Given the description of an element on the screen output the (x, y) to click on. 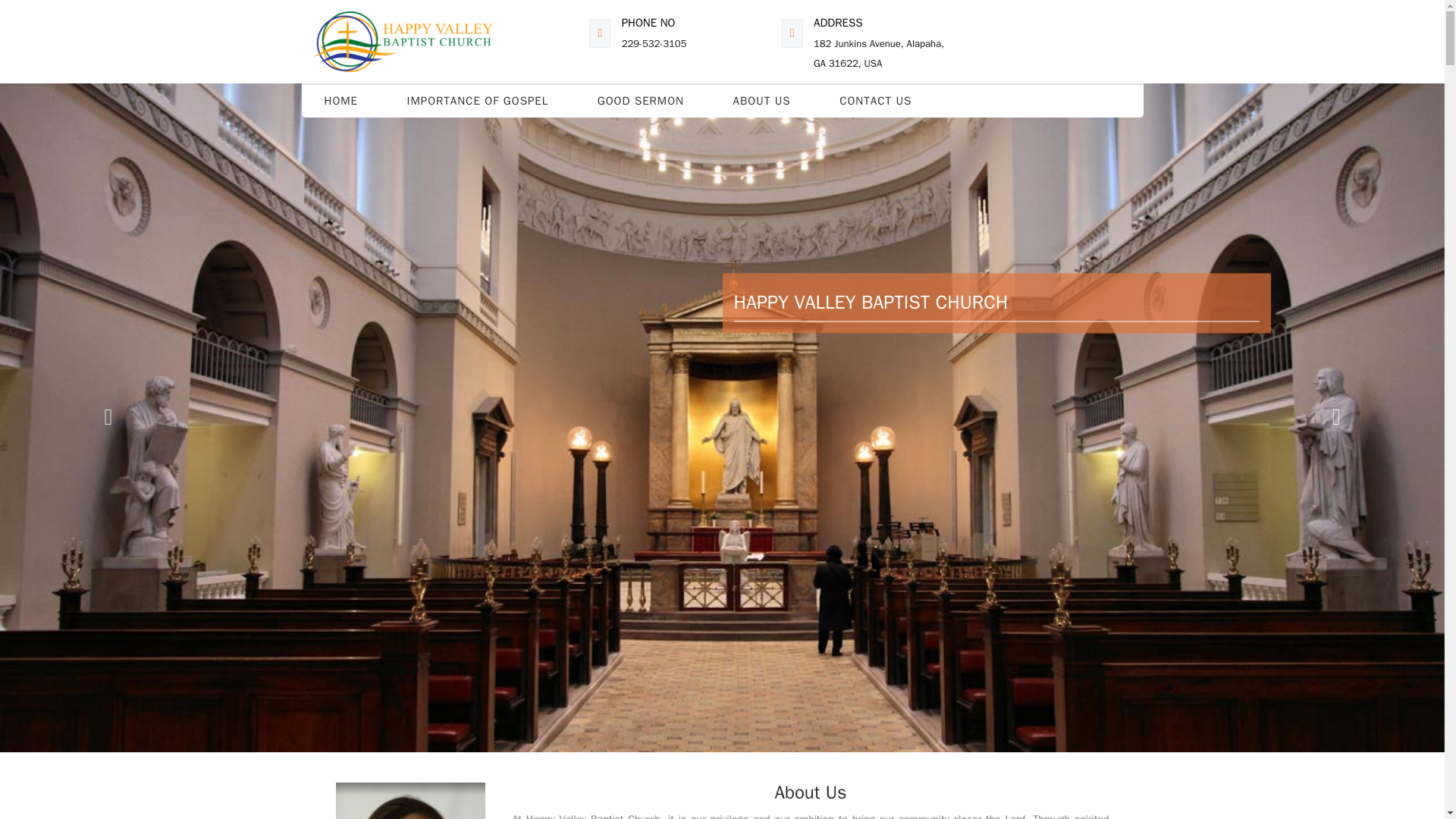
GOOD SERMON (640, 101)
IMPORTANCE OF GOSPEL (478, 101)
HOME (340, 101)
CONTACT US (875, 101)
ABOUT US (761, 101)
